Given the description of an element on the screen output the (x, y) to click on. 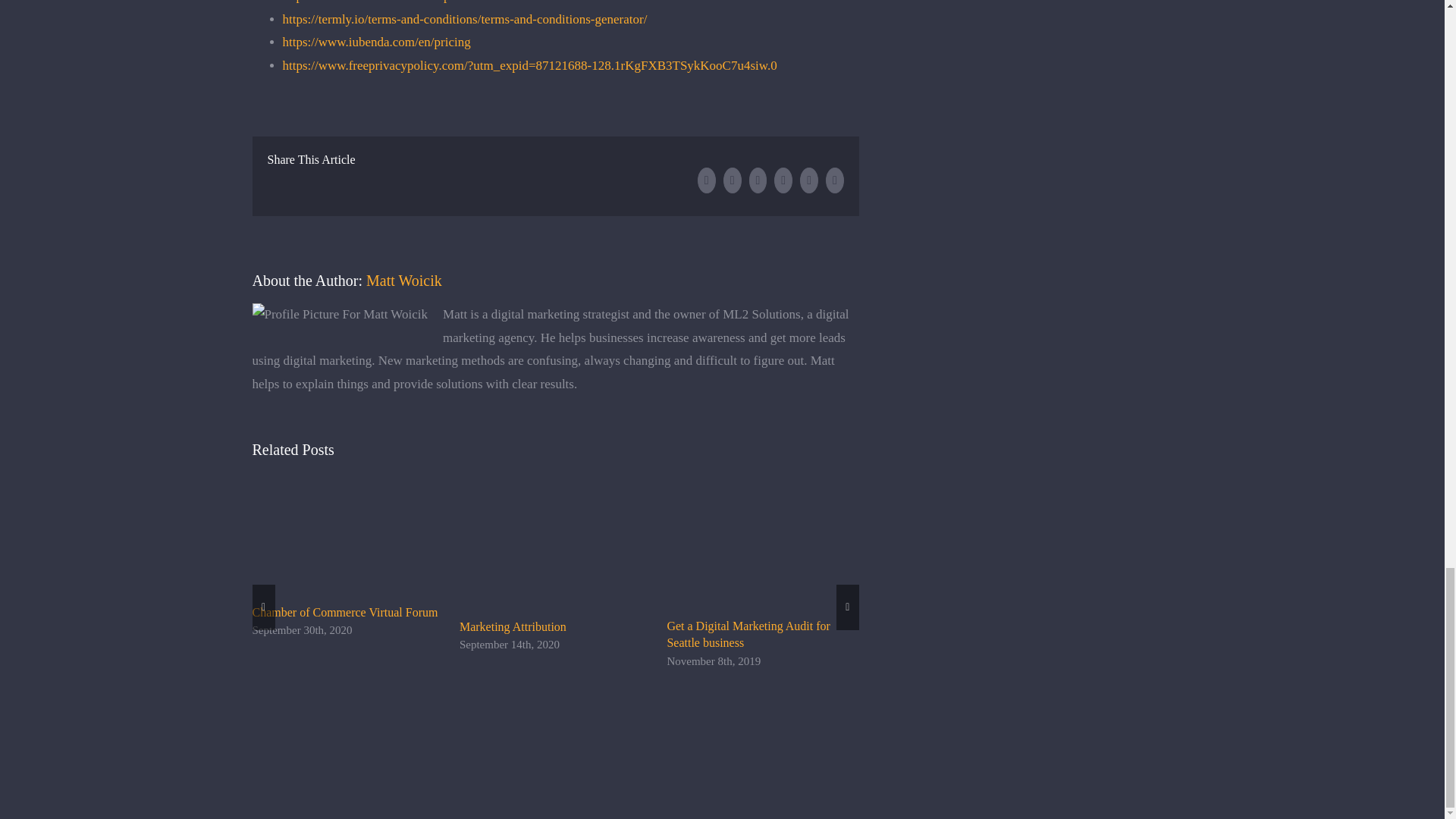
Posts by Matt Woicik (404, 280)
Marketing Attribution (513, 626)
Get a Digital Marketing Audit for Seattle business (747, 634)
Chamber of Commerce Virtual Forum (344, 612)
Gravatar for Matt Woicik (339, 314)
